Given the description of an element on the screen output the (x, y) to click on. 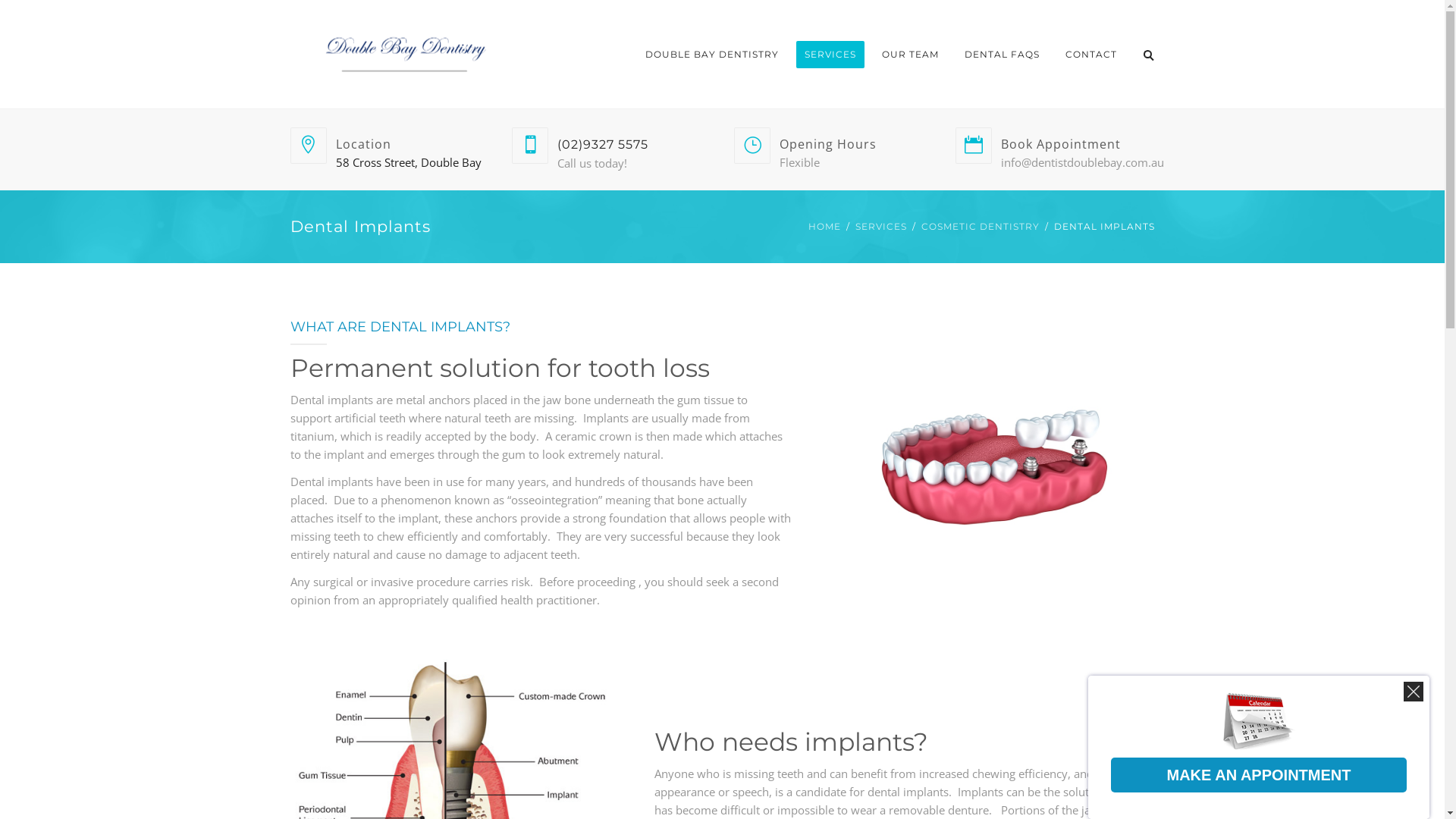
SERVICES Element type: text (830, 54)
SERVICES Element type: text (880, 226)
HOME Element type: text (824, 226)
DENTAL FAQS Element type: text (1001, 54)
DOUBLE BAY DENTISTRY Element type: text (712, 54)
COSMETIC DENTISTRY Element type: text (979, 226)
58 Cross Street, Double Bay Element type: text (407, 161)
(02)9327 5575 Element type: text (602, 144)
CONTACT Element type: text (1091, 54)
OUR TEAM Element type: text (910, 54)
